Given the description of an element on the screen output the (x, y) to click on. 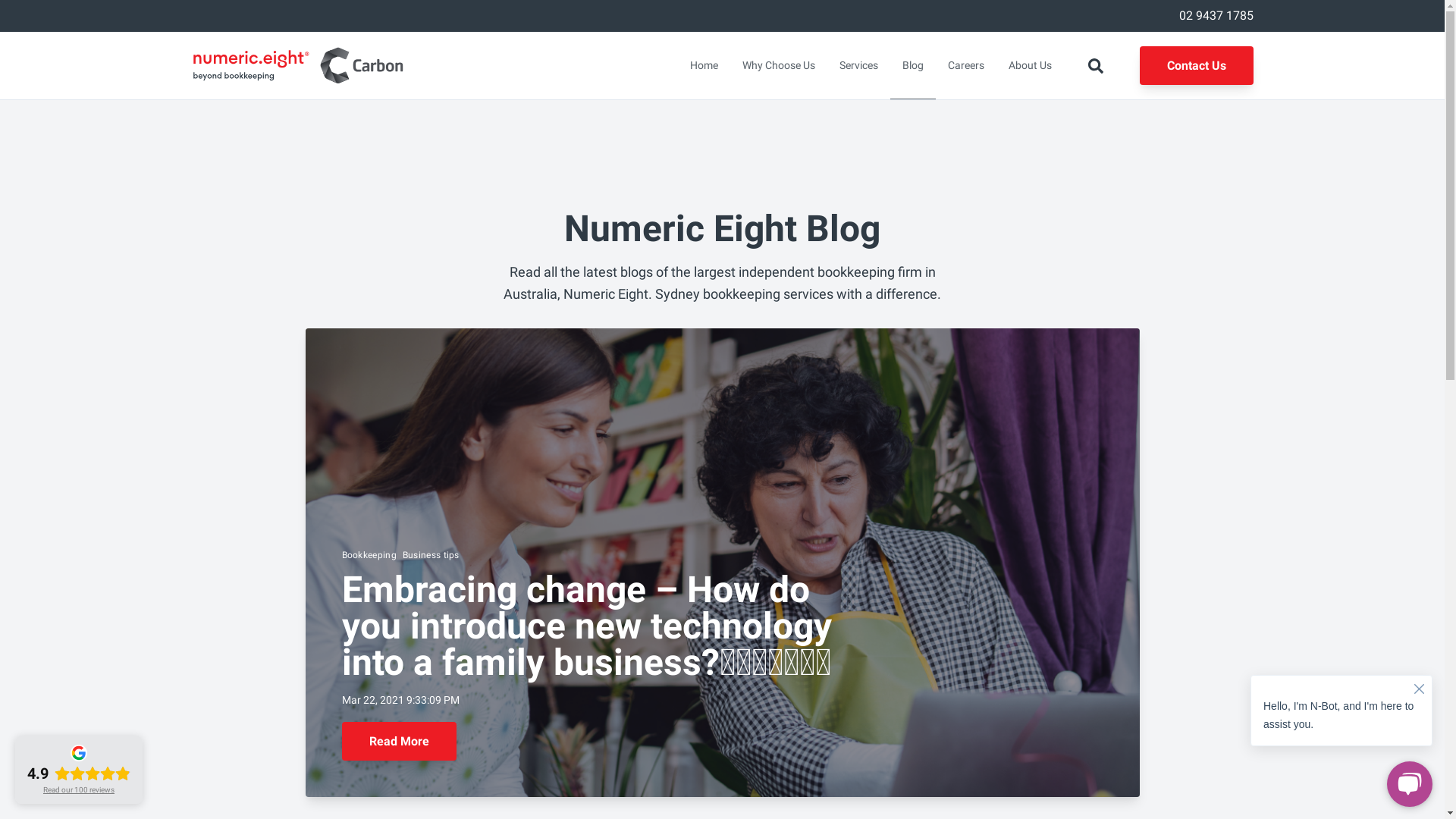
Bookkeeping Element type: text (368, 555)
Numeric Eight and Carbon Logo Element type: hover (297, 64)
Why Choose Us Element type: text (777, 65)
Business tips Element type: text (430, 555)
Read More Element type: text (398, 740)
Services Element type: text (857, 65)
About Us Element type: text (1029, 65)
Careers Element type: text (965, 65)
Contact Us Element type: text (1195, 65)
Home Element type: text (703, 65)
Blog Element type: text (912, 65)
